Given the description of an element on the screen output the (x, y) to click on. 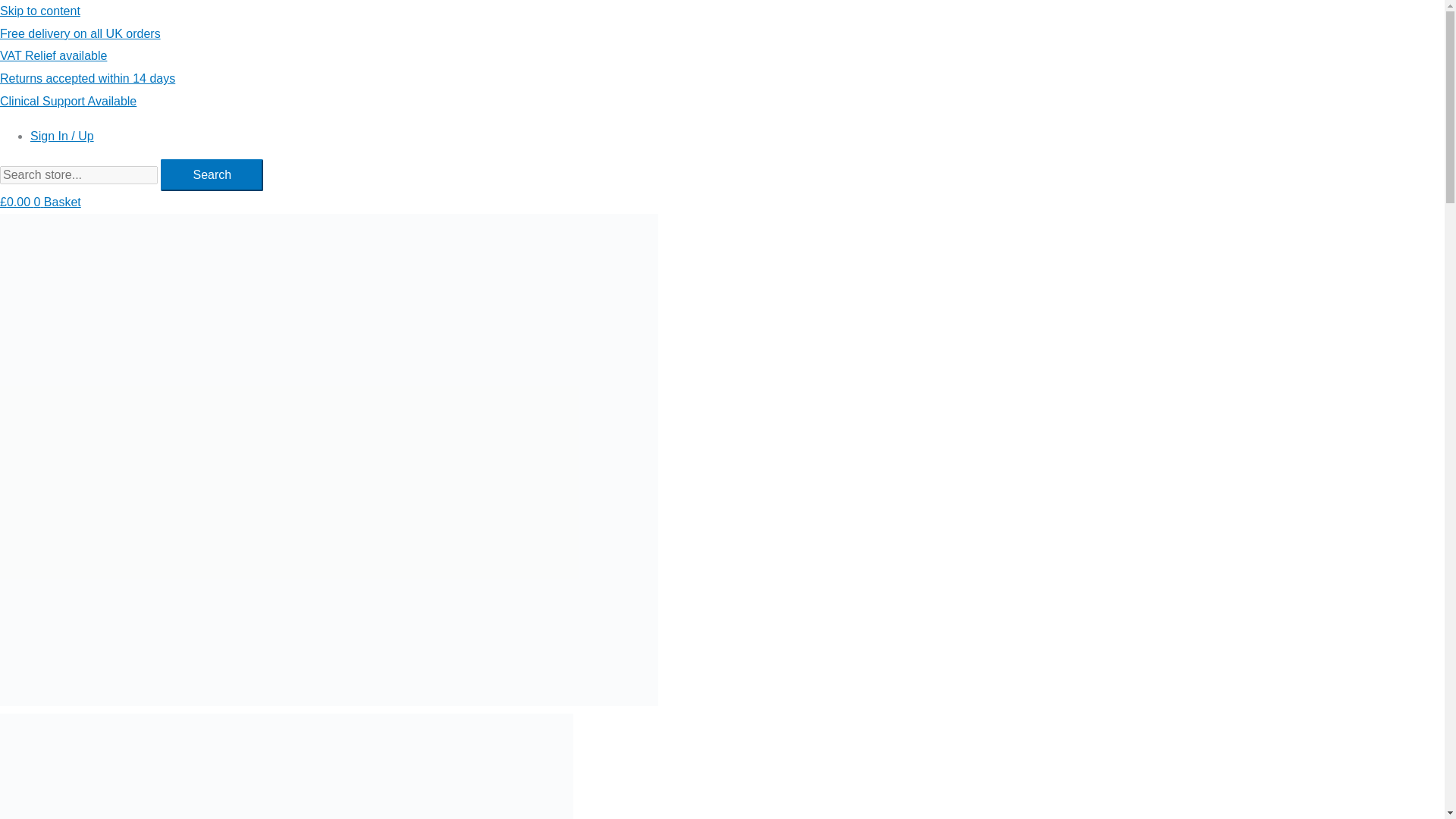
Search (211, 174)
Returns accepted within 14 days (87, 78)
Search (211, 174)
Skip to content (40, 10)
Search (78, 175)
Free delivery on all UK orders (80, 33)
Clinical Support Available (68, 101)
VAT Relief available (53, 55)
